Given the description of an element on the screen output the (x, y) to click on. 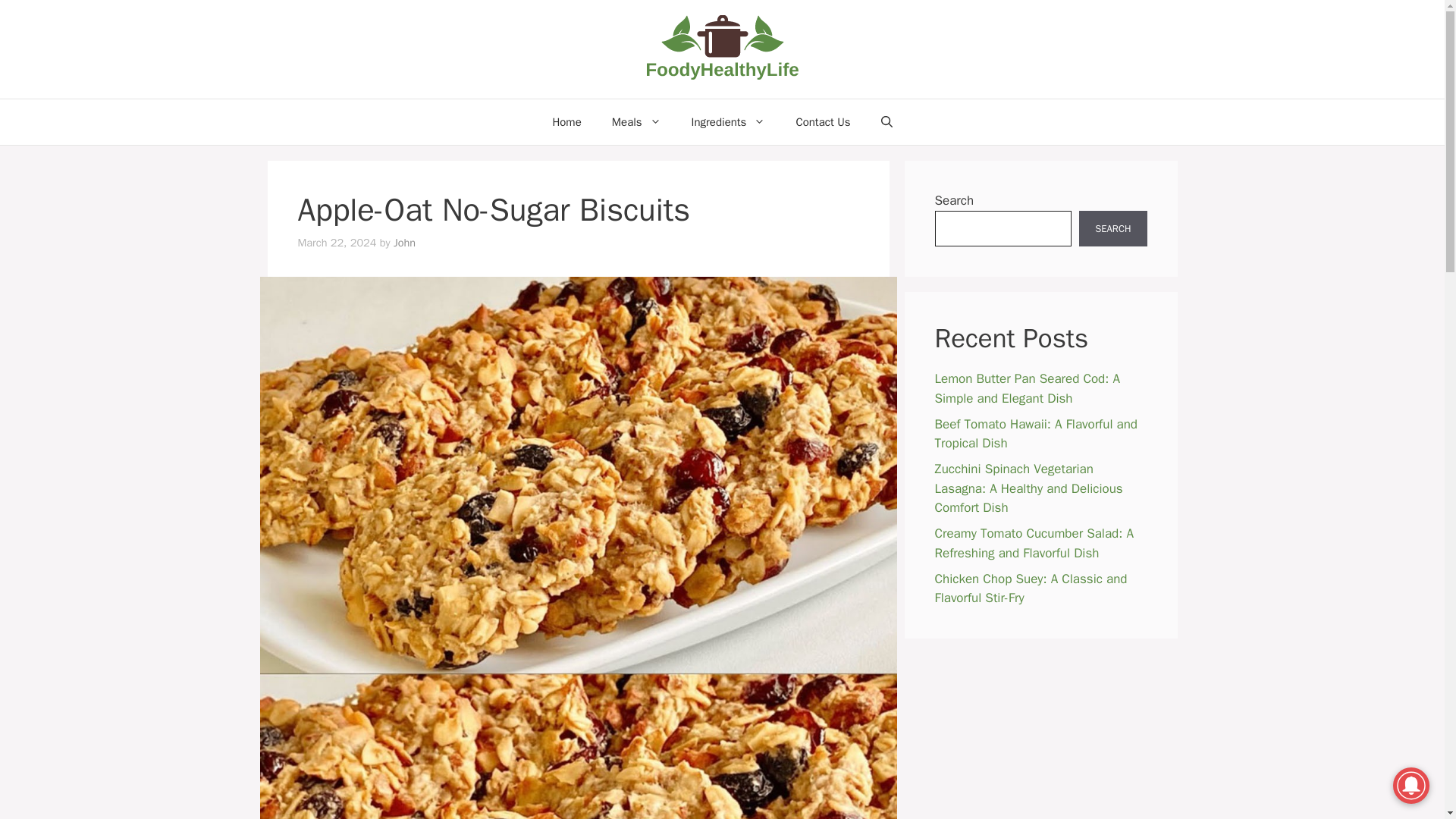
Home (566, 121)
John (403, 242)
View all posts by John (403, 242)
SEARCH (1112, 228)
Beef Tomato Hawaii: A Flavorful and Tropical Dish (1035, 433)
Contact Us (822, 121)
Chicken Chop Suey: A Classic and Flavorful Stir-Fry (1030, 588)
Lemon Butter Pan Seared Cod: A Simple and Elegant Dish (1026, 388)
Meals (636, 121)
Ingredients (728, 121)
